Given the description of an element on the screen output the (x, y) to click on. 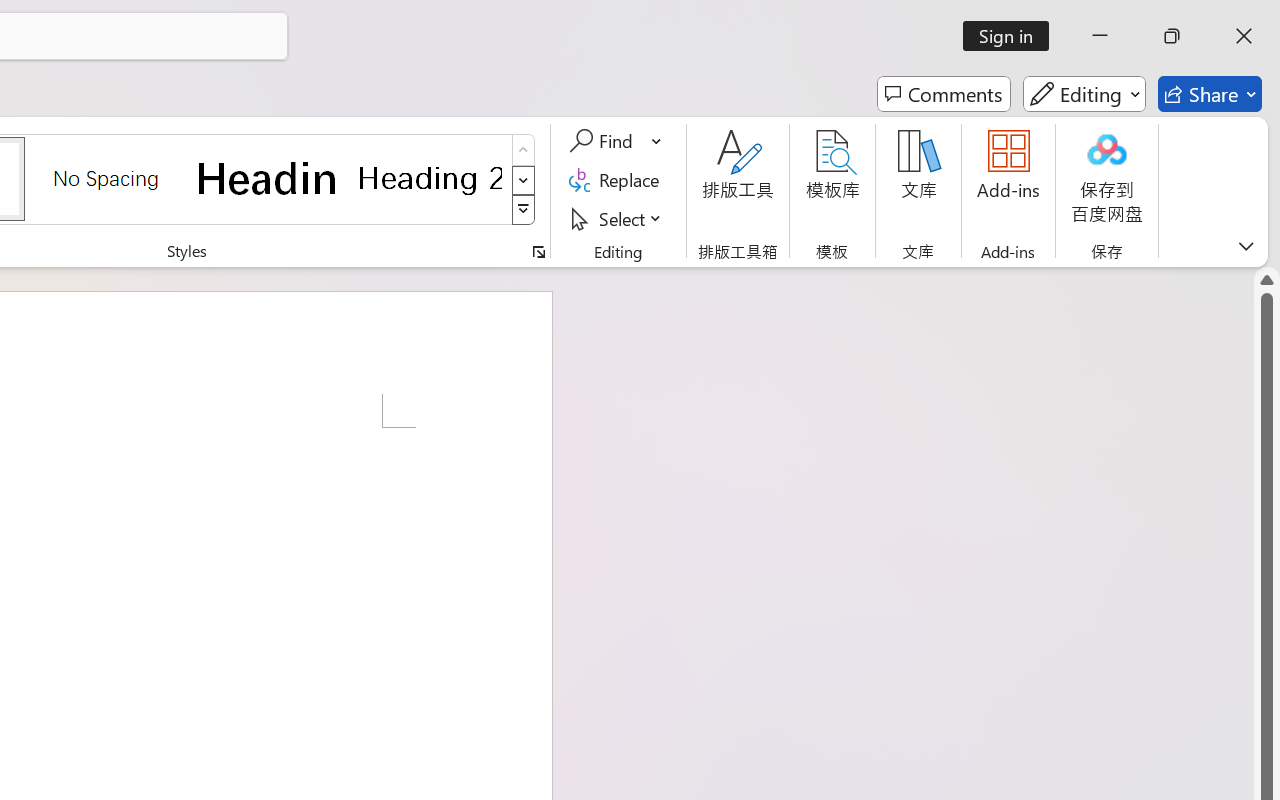
Sign in (1012, 35)
